Given the description of an element on the screen output the (x, y) to click on. 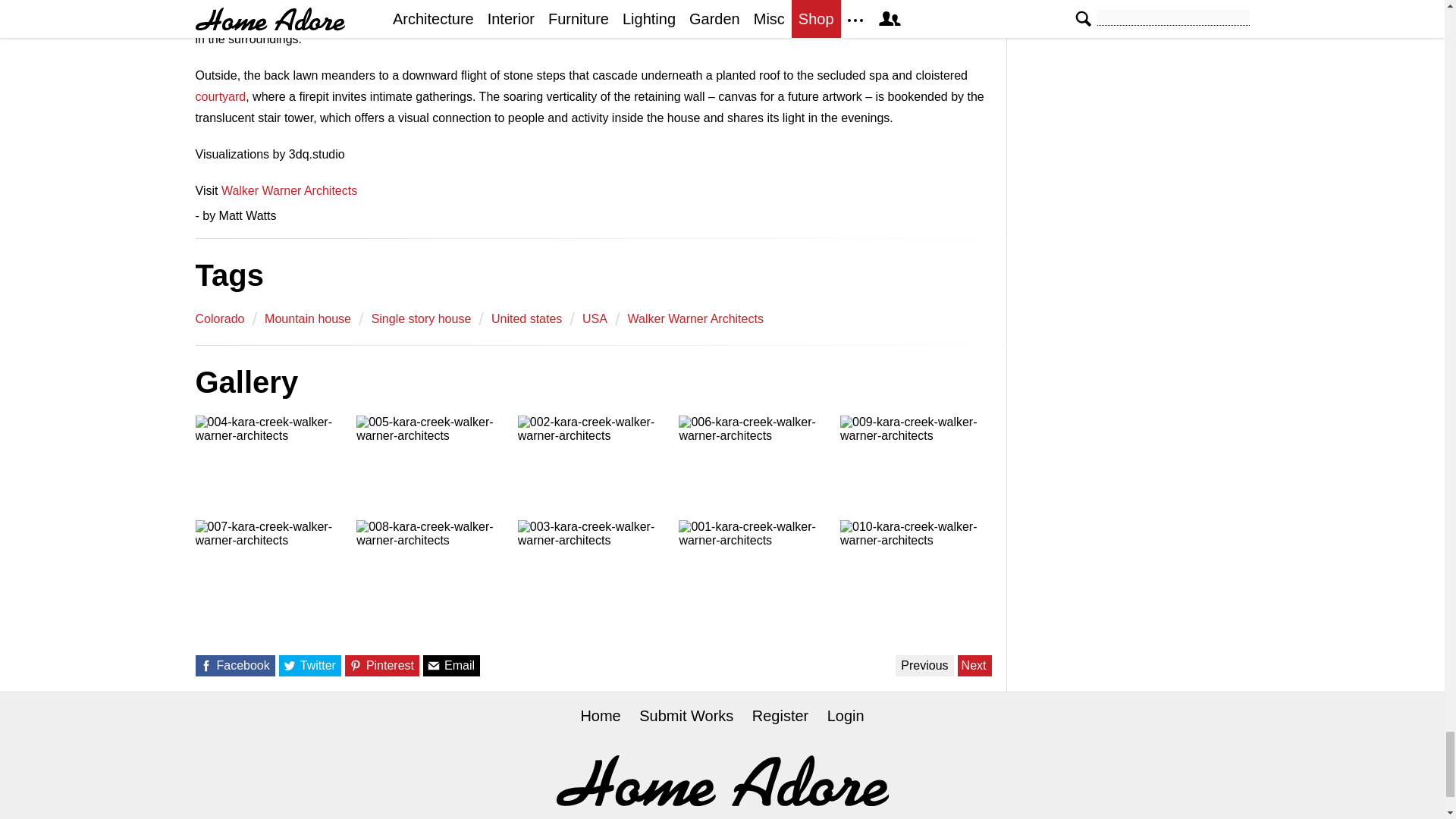
colorado (219, 318)
HomeAdore (722, 781)
united states (527, 318)
USA (594, 318)
single story house (421, 318)
Share on Twitter (289, 665)
Share on Facebook (205, 665)
mountain house (307, 318)
Share with a Friend (433, 665)
Walker Warner Architects (694, 318)
